Given the description of an element on the screen output the (x, y) to click on. 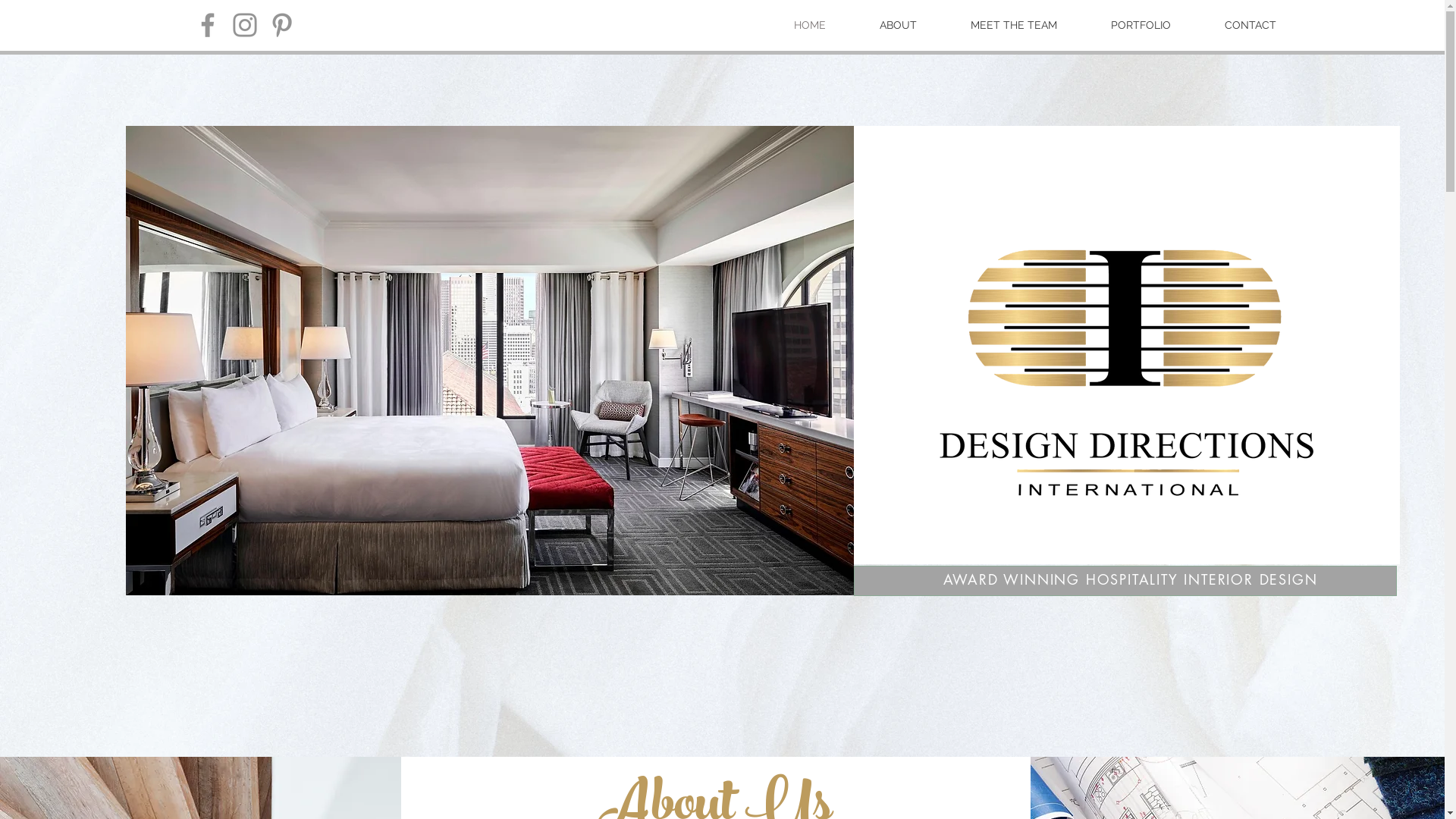
HOME Element type: text (808, 24)
PORTFOLIO Element type: text (1141, 24)
CONTACT Element type: text (1250, 24)
MEET THE TEAM Element type: text (1013, 24)
ABOUT Element type: text (897, 24)
